Given the description of an element on the screen output the (x, y) to click on. 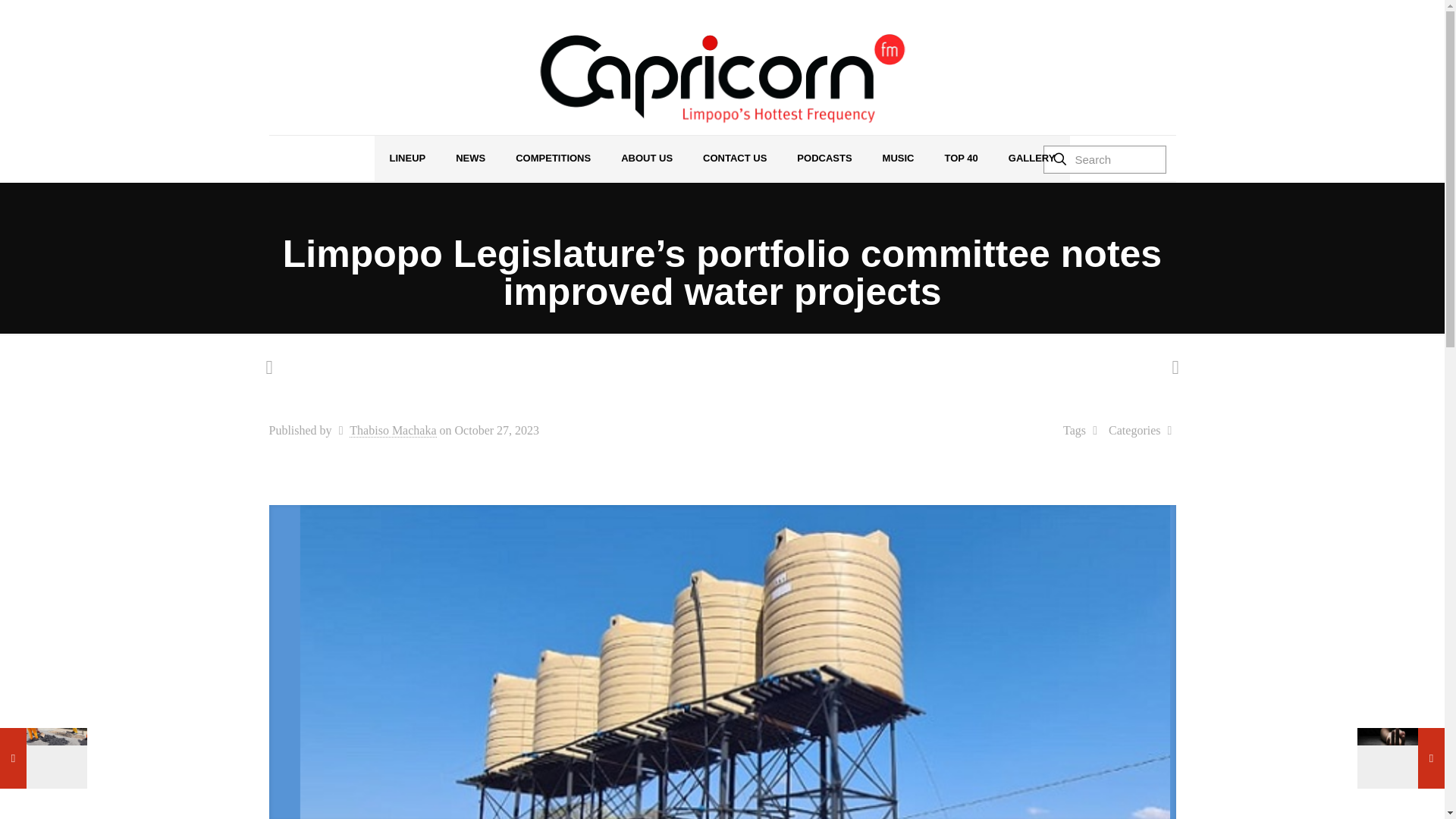
MUSIC (898, 157)
NEWS (470, 157)
COMPETITIONS (552, 157)
Thabiso Machaka (392, 430)
Capricorn FM (721, 78)
GALLERY (1031, 157)
PODCASTS (823, 157)
LINEUP (407, 157)
ABOUT US (646, 157)
CONTACT US (734, 157)
TOP 40 (960, 157)
